Given the description of an element on the screen output the (x, y) to click on. 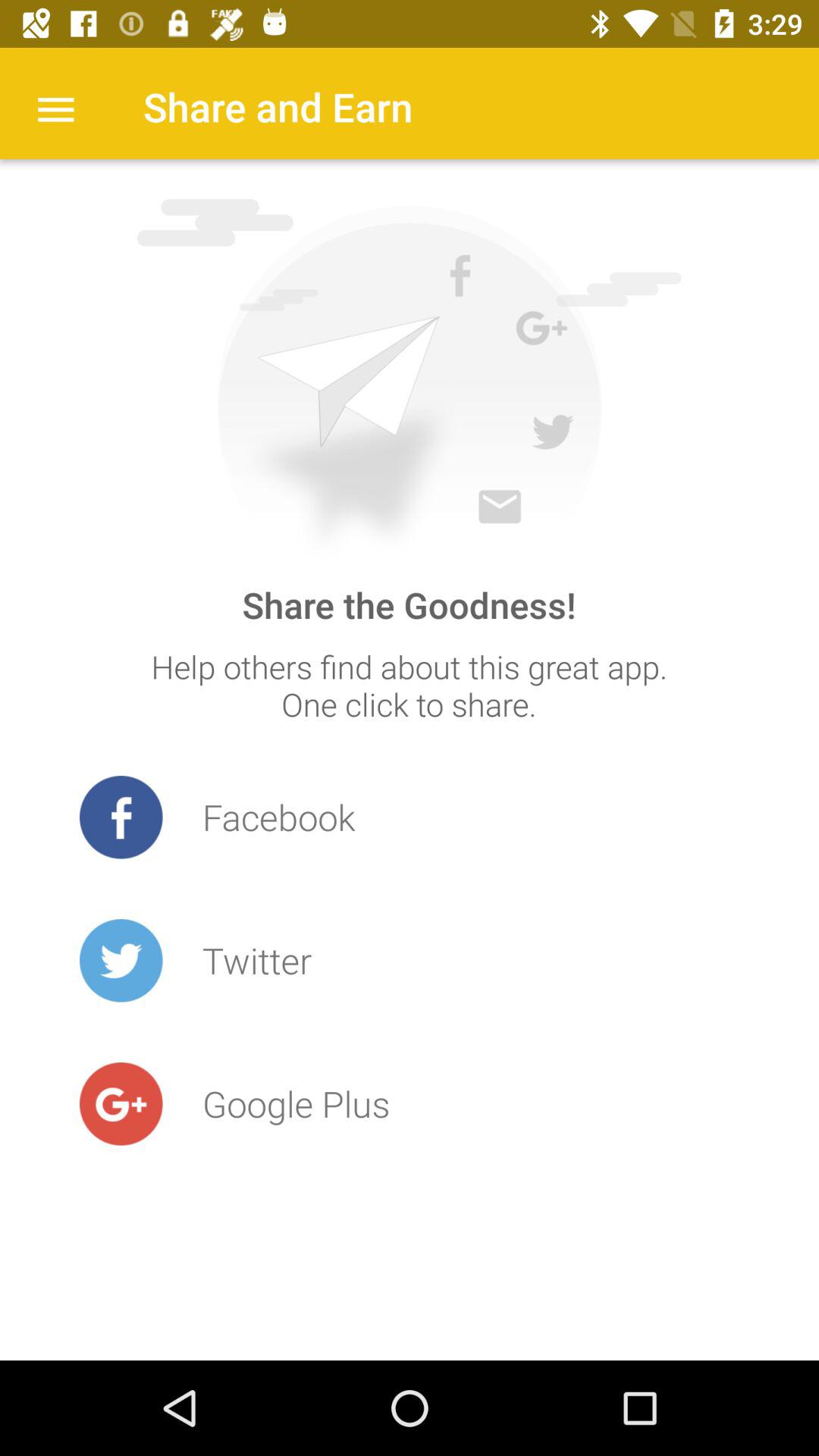
turn on icon below share and earn (409, 379)
